Given the description of an element on the screen output the (x, y) to click on. 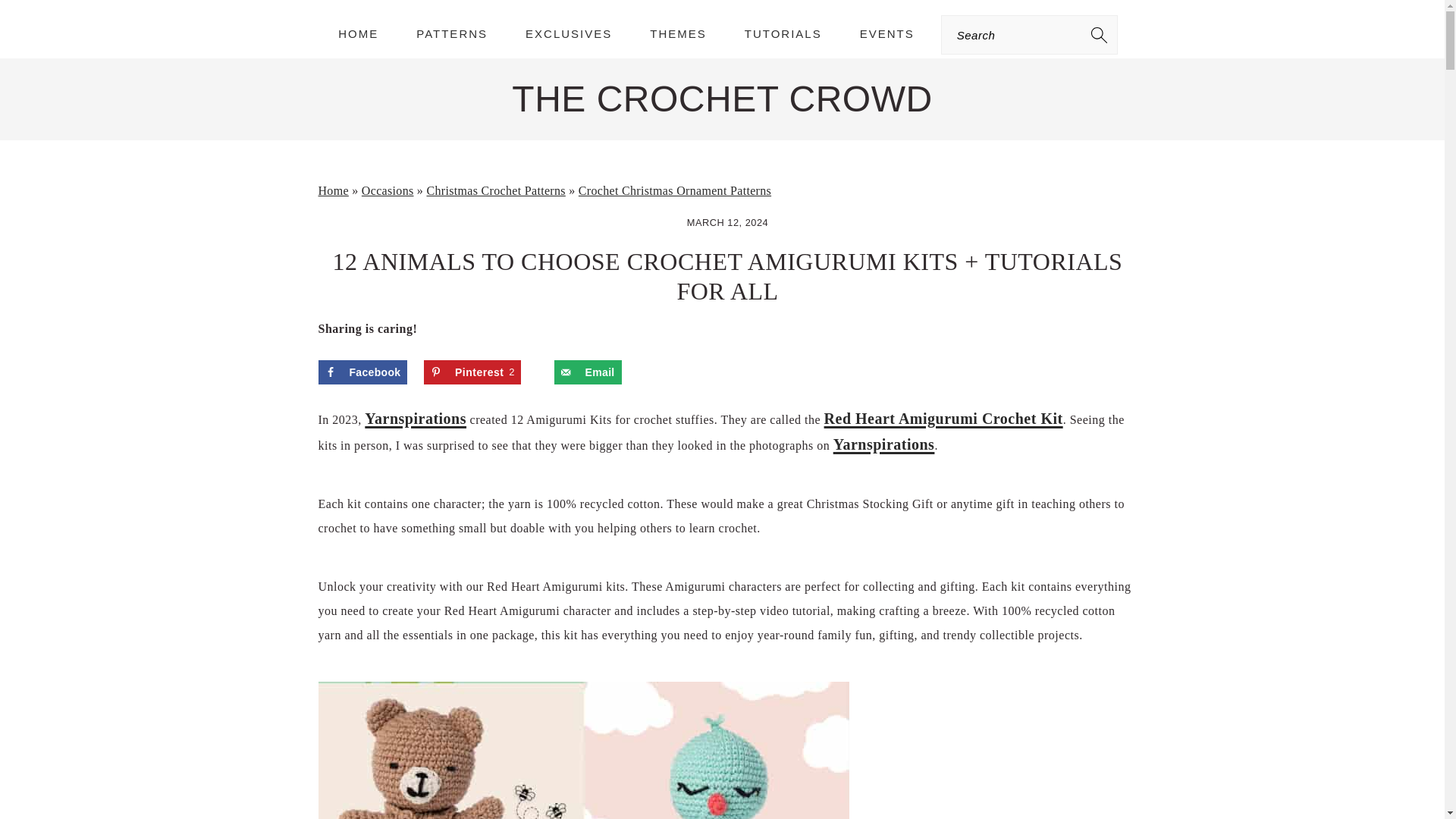
EVENTS (472, 372)
TUTORIALS (887, 33)
THE CROCHET CROWD (783, 33)
Red Heart Amigurumi Crochet Kit (721, 98)
EXCLUSIVES (943, 418)
HOME (568, 33)
Home (357, 33)
Email (333, 190)
Yarnspirations (587, 372)
Skip to primary navigation (883, 443)
Share on Facebook (472, 372)
PATTERNS (362, 372)
Christmas Crochet Patterns (451, 33)
